Given the description of an element on the screen output the (x, y) to click on. 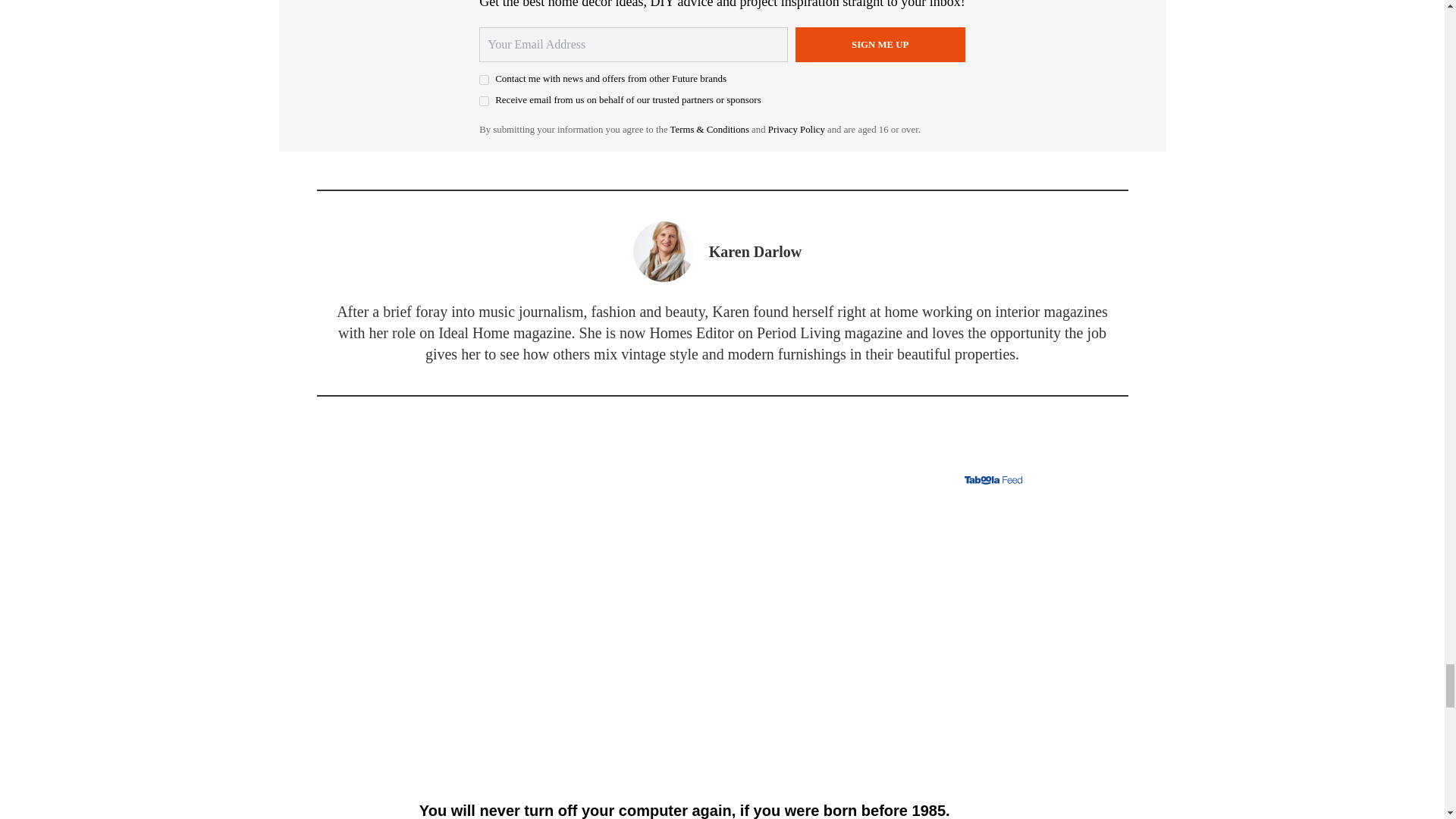
Sign me up (879, 44)
on (484, 101)
on (484, 80)
